Given the description of an element on the screen output the (x, y) to click on. 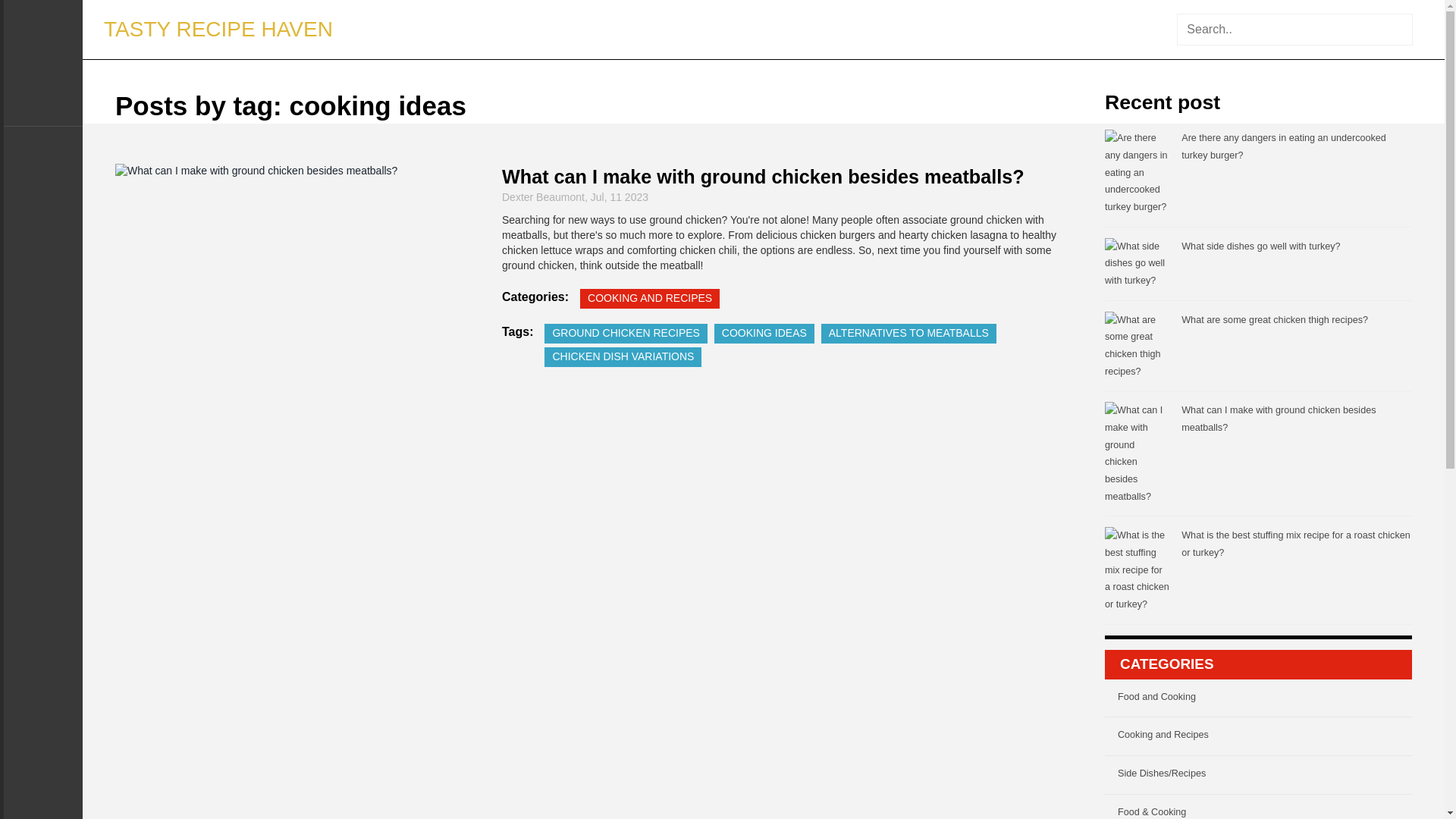
Food and Cooking (1265, 700)
COOKING AND RECIPES (649, 298)
COOKING IDEAS (763, 333)
What are some great chicken thigh recipes? (1274, 319)
Cooking and Recipes (1265, 738)
CHICKEN DISH VARIATIONS (622, 356)
GROUND CHICKEN RECIPES (625, 333)
TASTY RECIPE HAVEN (218, 29)
What can I make with ground chicken besides meatballs? (1277, 418)
What can I make with ground chicken besides meatballs? (763, 176)
Dexter Beaumont, (546, 196)
ALTERNATIVES TO MEATBALLS (908, 333)
What side dishes go well with turkey? (1259, 245)
